Given the description of an element on the screen output the (x, y) to click on. 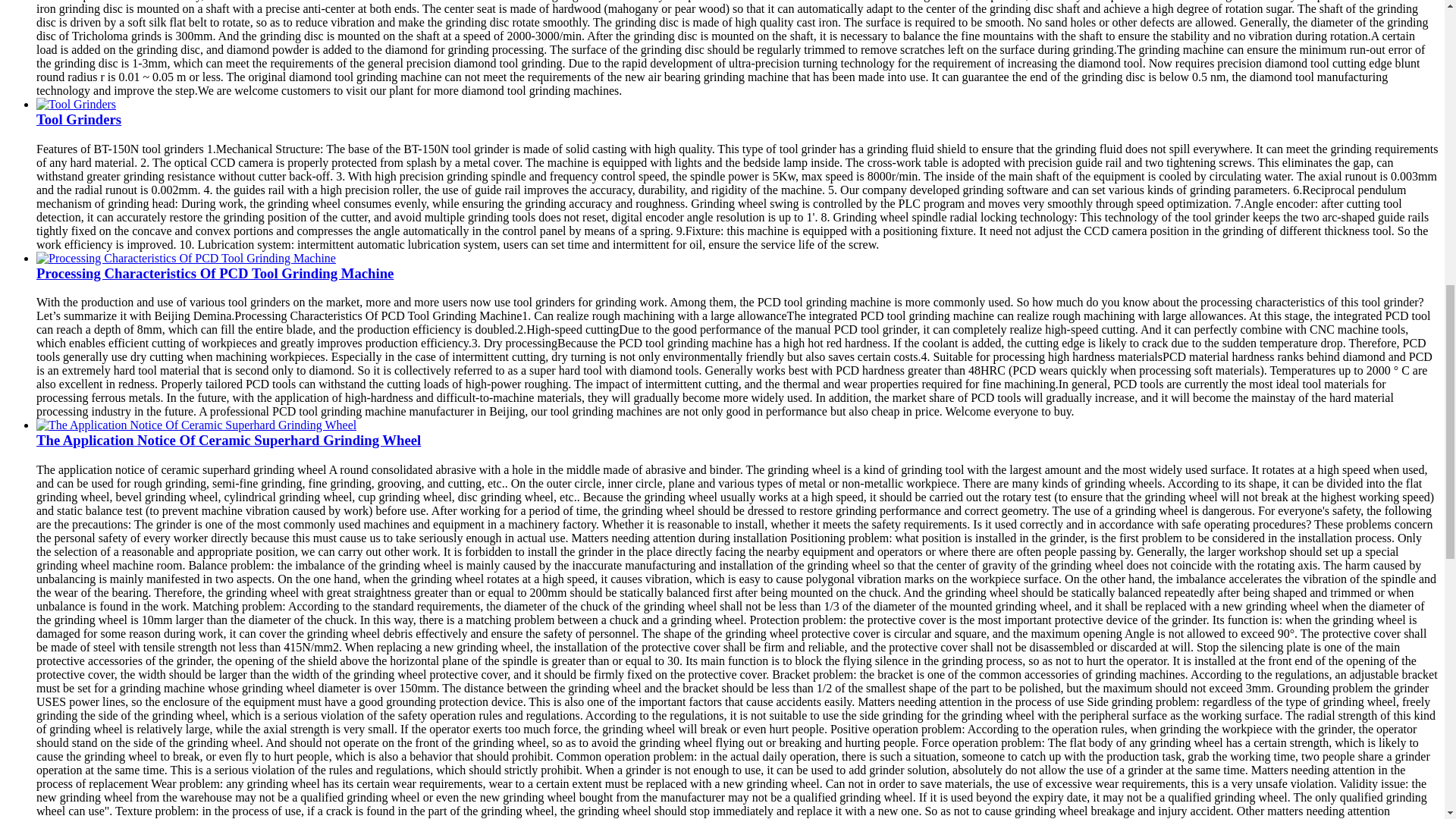
Processing Characteristics Of PCD Tool Grinding Machine (214, 273)
The Application Notice Of Ceramic Superhard Grinding Wheel (196, 425)
The Application Notice Of Ceramic Superhard Grinding Wheel (228, 439)
Tool Grinders (78, 119)
Tool Grinders (78, 119)
Processing Characteristics Of PCD Tool Grinding Machine (214, 273)
Processing Characteristics Of PCD Tool Grinding Machine (186, 258)
Tool Grinders (76, 104)
The Application Notice Of Ceramic Superhard Grinding Wheel (228, 439)
